Given the description of an element on the screen output the (x, y) to click on. 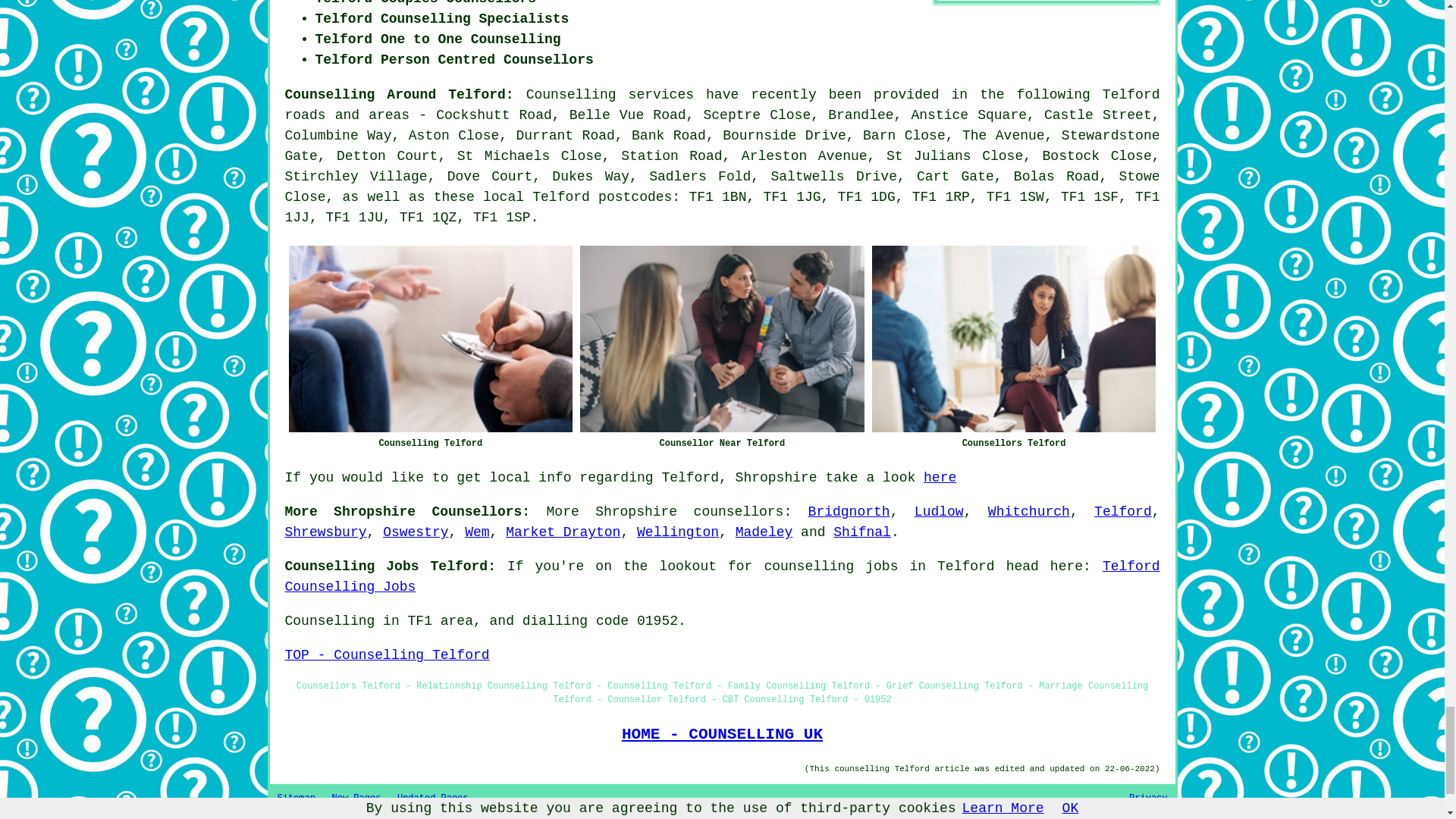
Counselling Telford (430, 338)
Counsellor Near Me Telford (721, 338)
Counsellors Telford UK (1014, 338)
